Given the description of an element on the screen output the (x, y) to click on. 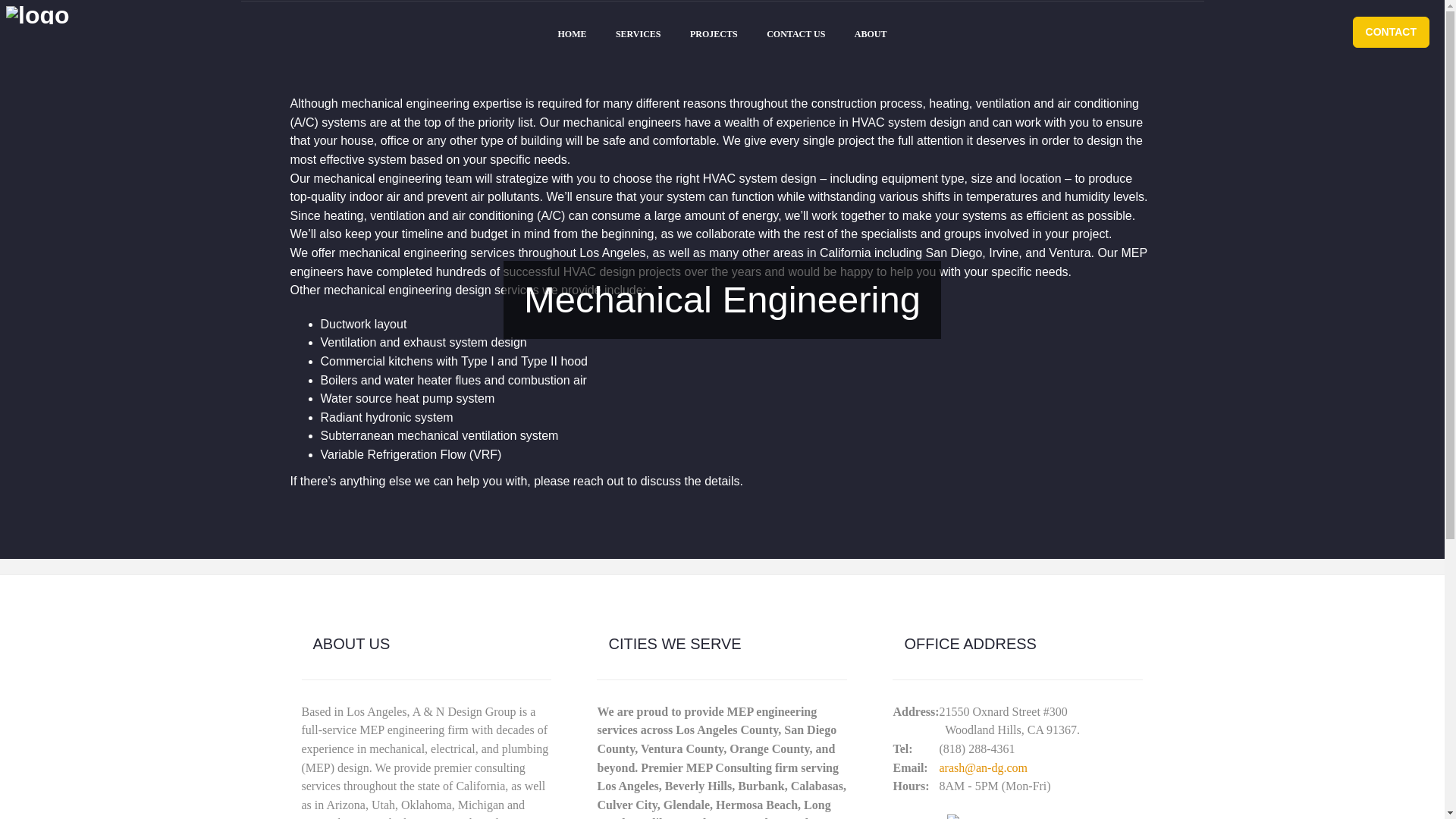
SERVICES (638, 33)
CONTACT US (796, 33)
CONTACT (1390, 31)
PROJECTS (714, 33)
